Given the description of an element on the screen output the (x, y) to click on. 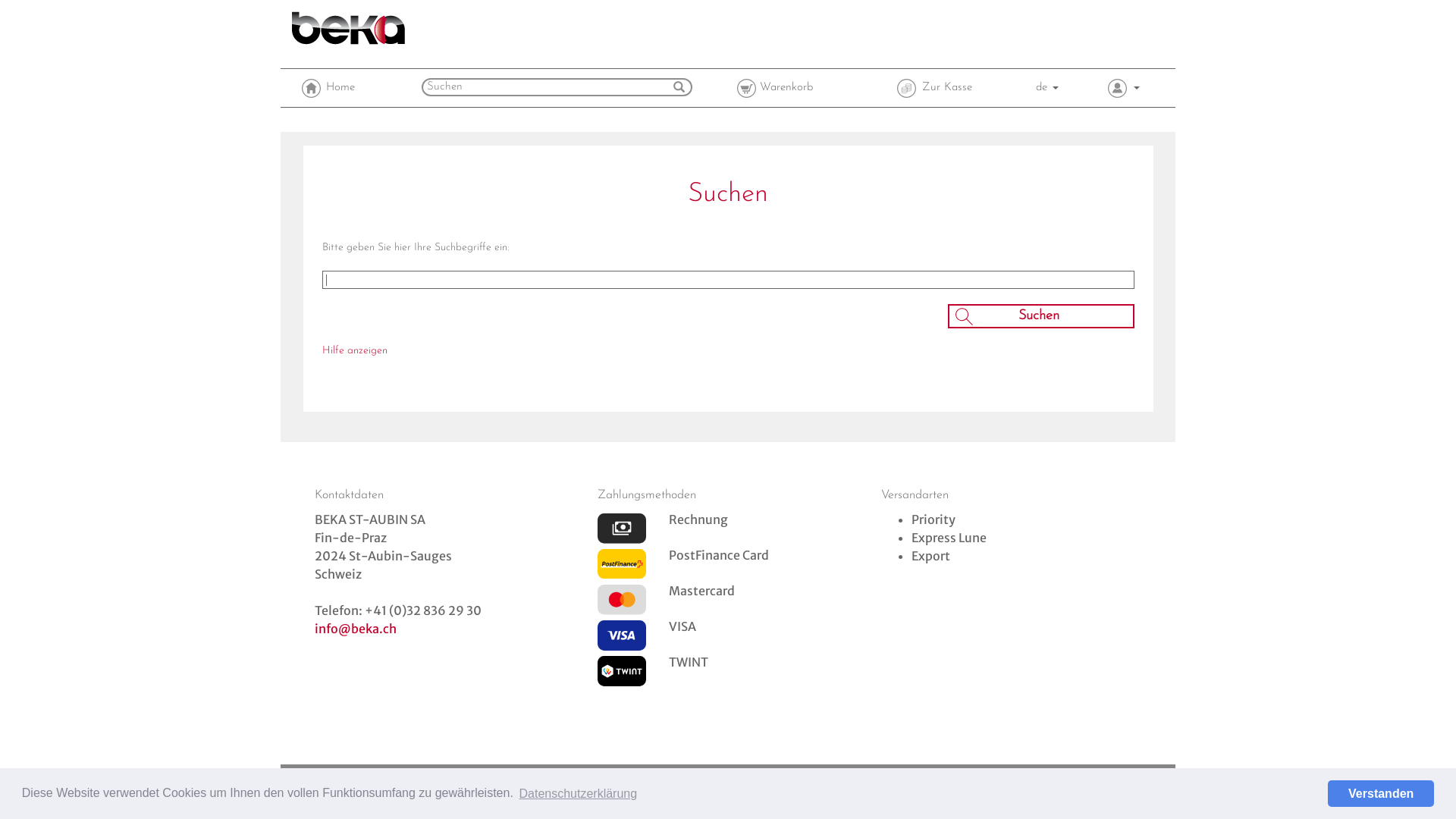
Home Element type: text (326, 87)
PostFinance Card Element type: hover (621, 563)
Warenkorb Element type: hover (746, 87)
VISA Element type: hover (621, 634)
AGB Element type: text (1011, 781)
Suche Element type: text (1081, 781)
info@beka.ch Element type: text (354, 628)
Warenkorb Element type: text (774, 87)
Rechtlicher Hinweis Element type: text (851, 781)
Verstanden Element type: text (1380, 793)
Zur Kasse Element type: text (933, 87)
Rechnung Element type: hover (621, 528)
Mastercard Element type: hover (621, 599)
Suchen Element type: text (1040, 316)
Zur Kasse Element type: hover (906, 87)
Hilfe anzeigen Element type: text (353, 350)
Home Element type: hover (310, 87)
TWINT Element type: hover (621, 670)
Home Element type: text (762, 781)
